Given the description of an element on the screen output the (x, y) to click on. 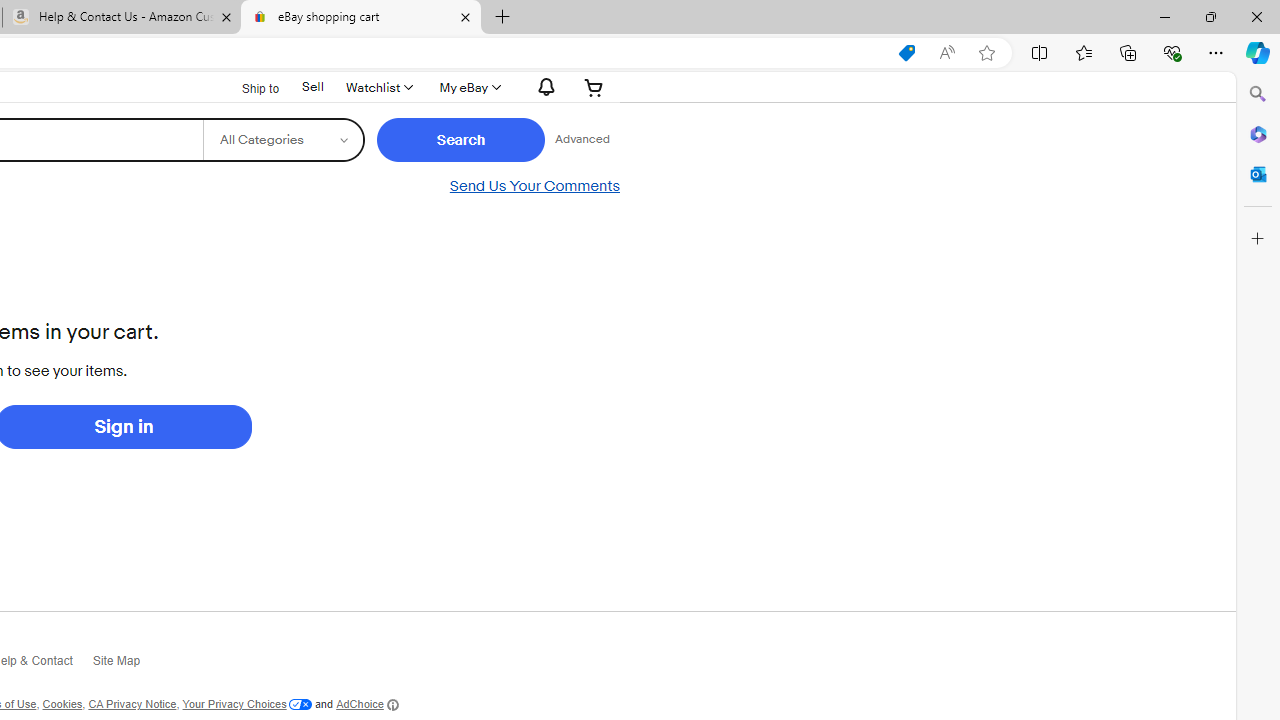
Your Privacy Choices (246, 704)
Watchlist (378, 87)
Close Outlook pane (1258, 174)
Advanced Search (581, 139)
Shopping in Microsoft Edge (906, 53)
My eBayExpand My eBay (468, 87)
AdChoice (367, 704)
